Given the description of an element on the screen output the (x, y) to click on. 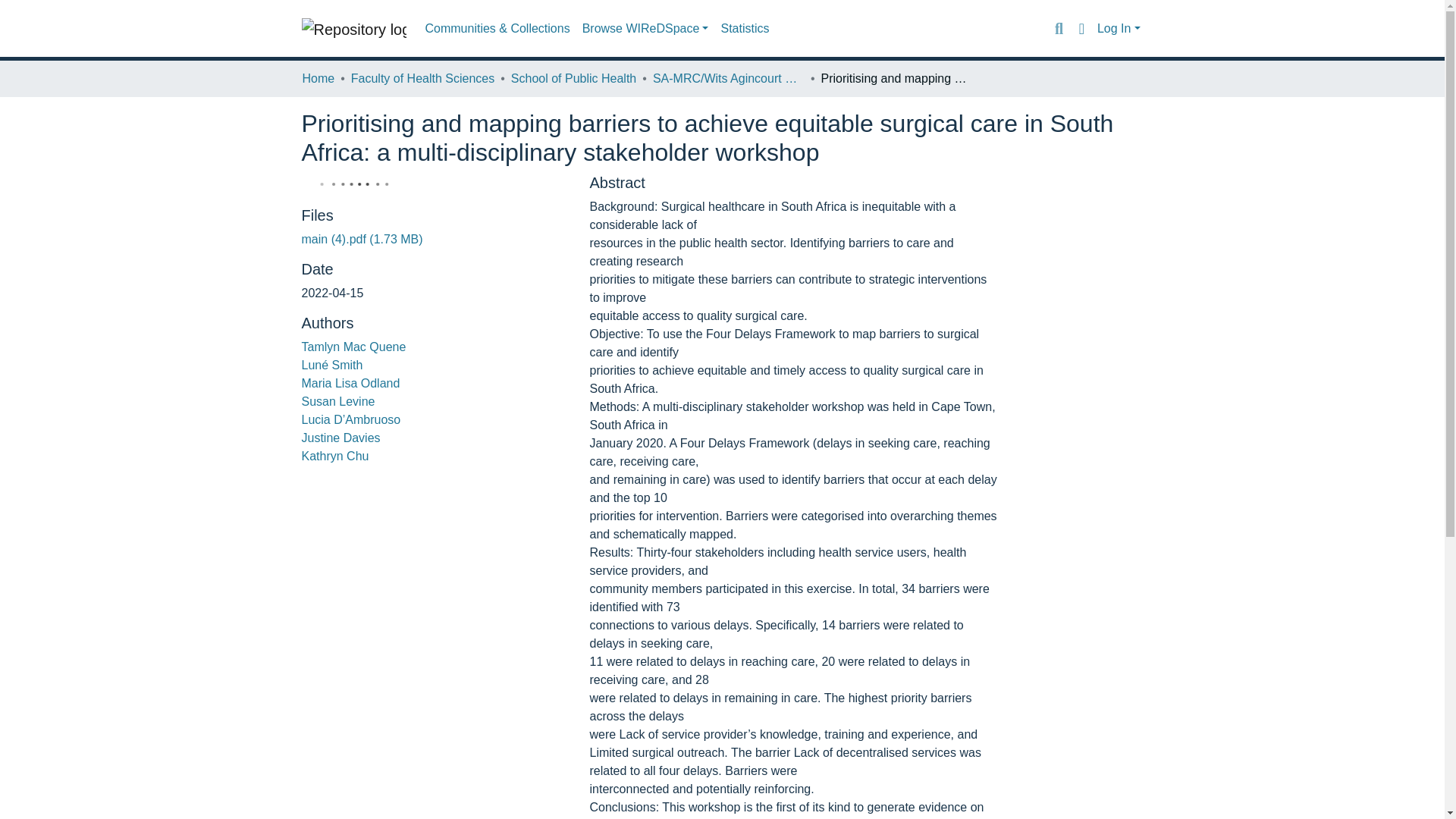
Susan Levine (338, 400)
Tamlyn Mac Quene (353, 346)
Statistics (744, 28)
Faculty of Health Sciences (422, 78)
Justine Davies (340, 437)
Kathryn Chu (335, 455)
Maria Lisa Odland (350, 382)
School of Public Health (573, 78)
Statistics (744, 28)
Home (317, 78)
Language switch (1081, 28)
Browse WIReDSpace (645, 28)
Search (1058, 28)
Log In (1118, 28)
